Given the description of an element on the screen output the (x, y) to click on. 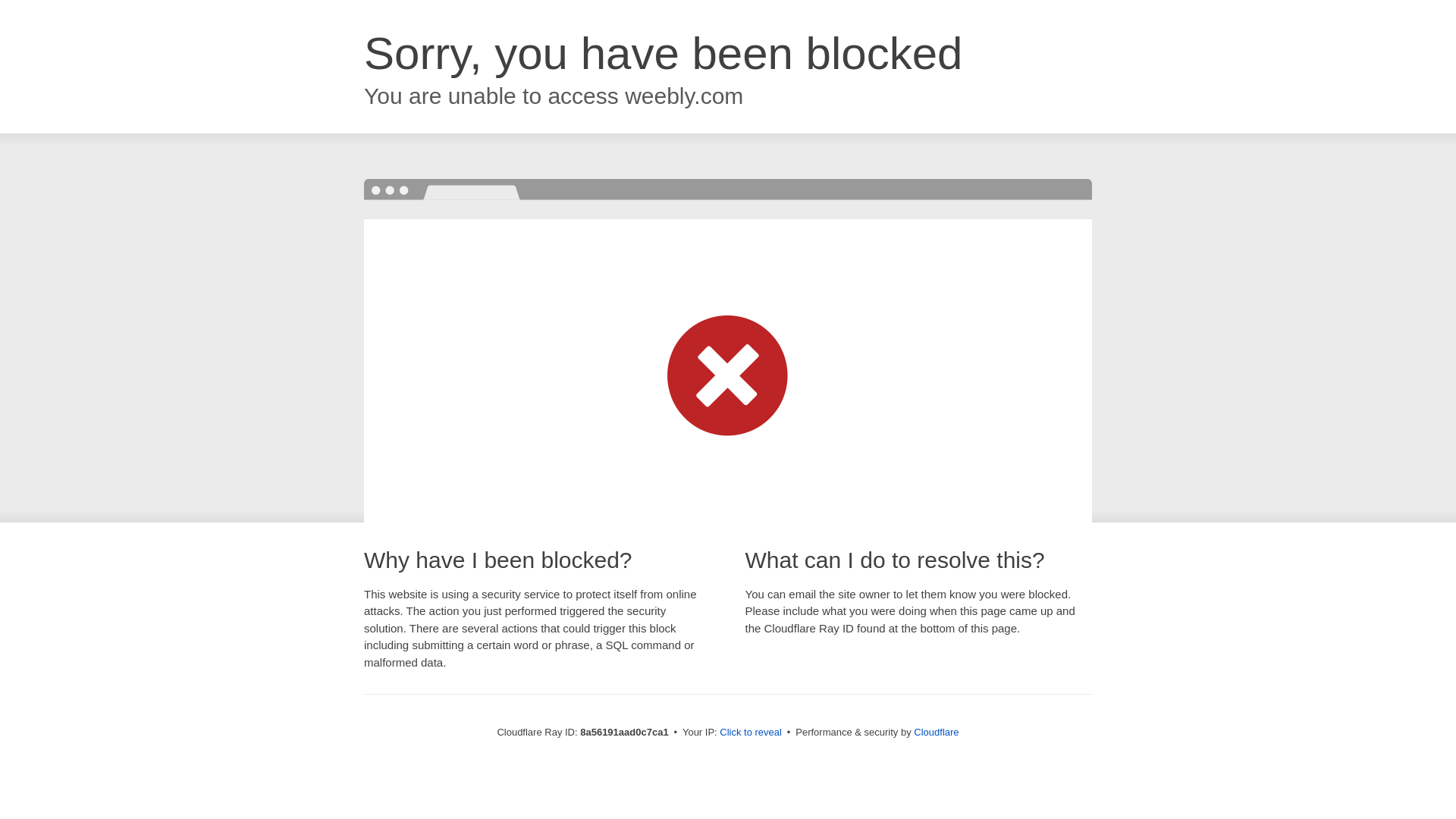
Click to reveal (750, 732)
Cloudflare (936, 731)
